Given the description of an element on the screen output the (x, y) to click on. 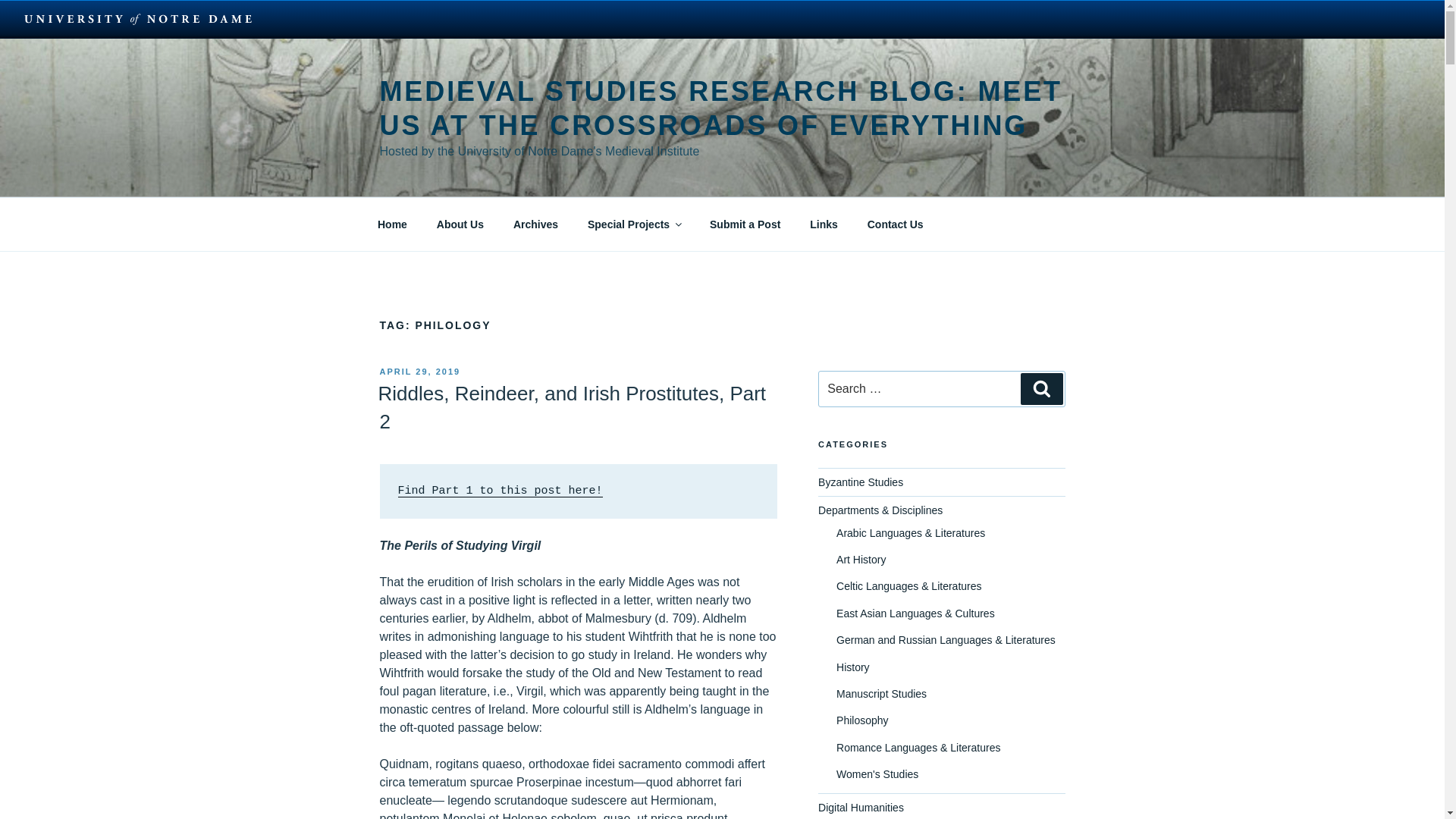
APRIL 29, 2019 (419, 370)
About Us (459, 224)
Find Part 1 to this post here! (499, 490)
Links (823, 224)
Riddles, Reindeer, and Irish Prostitutes, Part 2 (571, 407)
University Notre Dame (137, 18)
Special Projects (633, 224)
Archives (534, 224)
Submit a Post (745, 224)
